Given the description of an element on the screen output the (x, y) to click on. 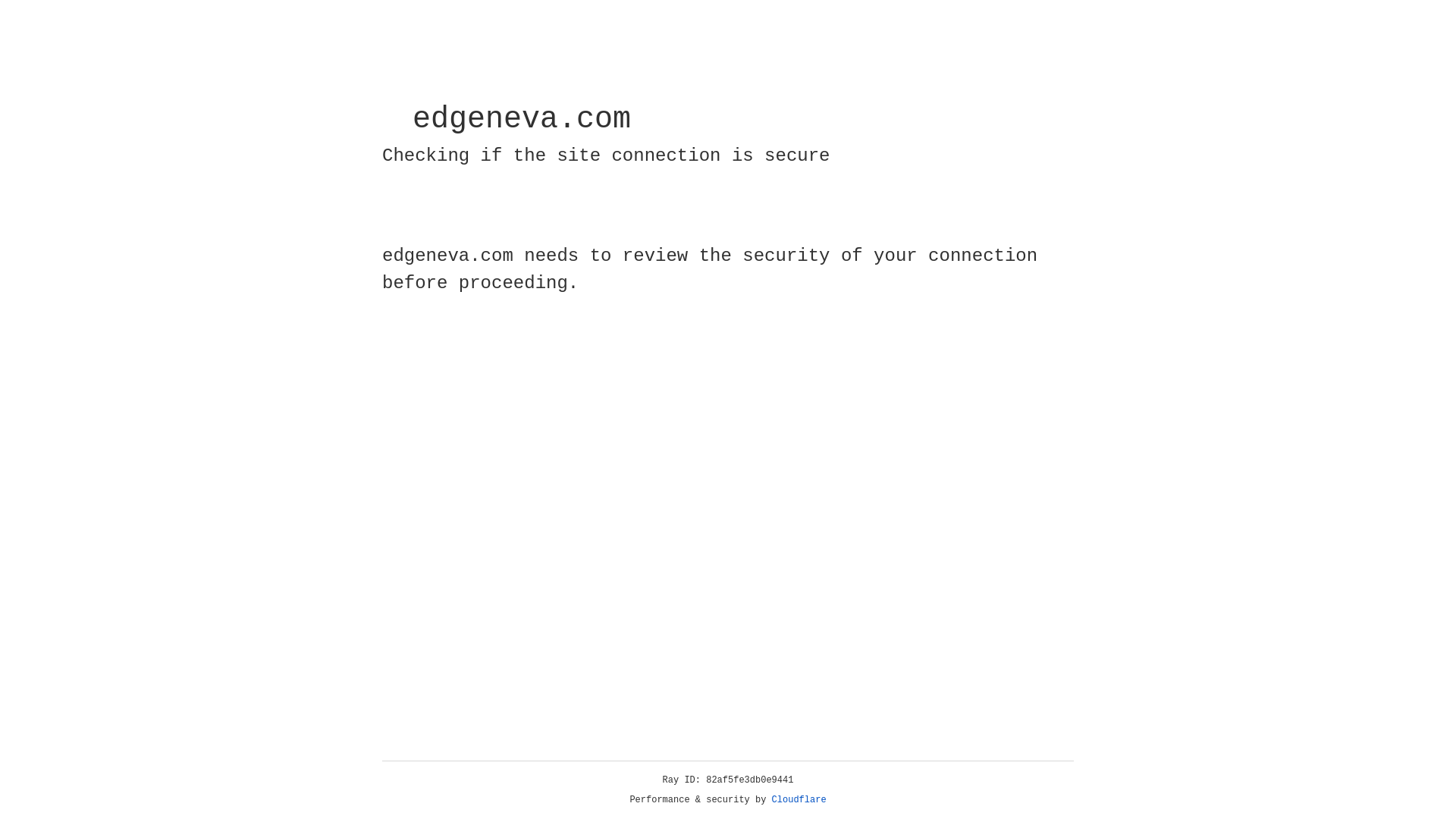
Cloudflare Element type: text (798, 799)
